Given the description of an element on the screen output the (x, y) to click on. 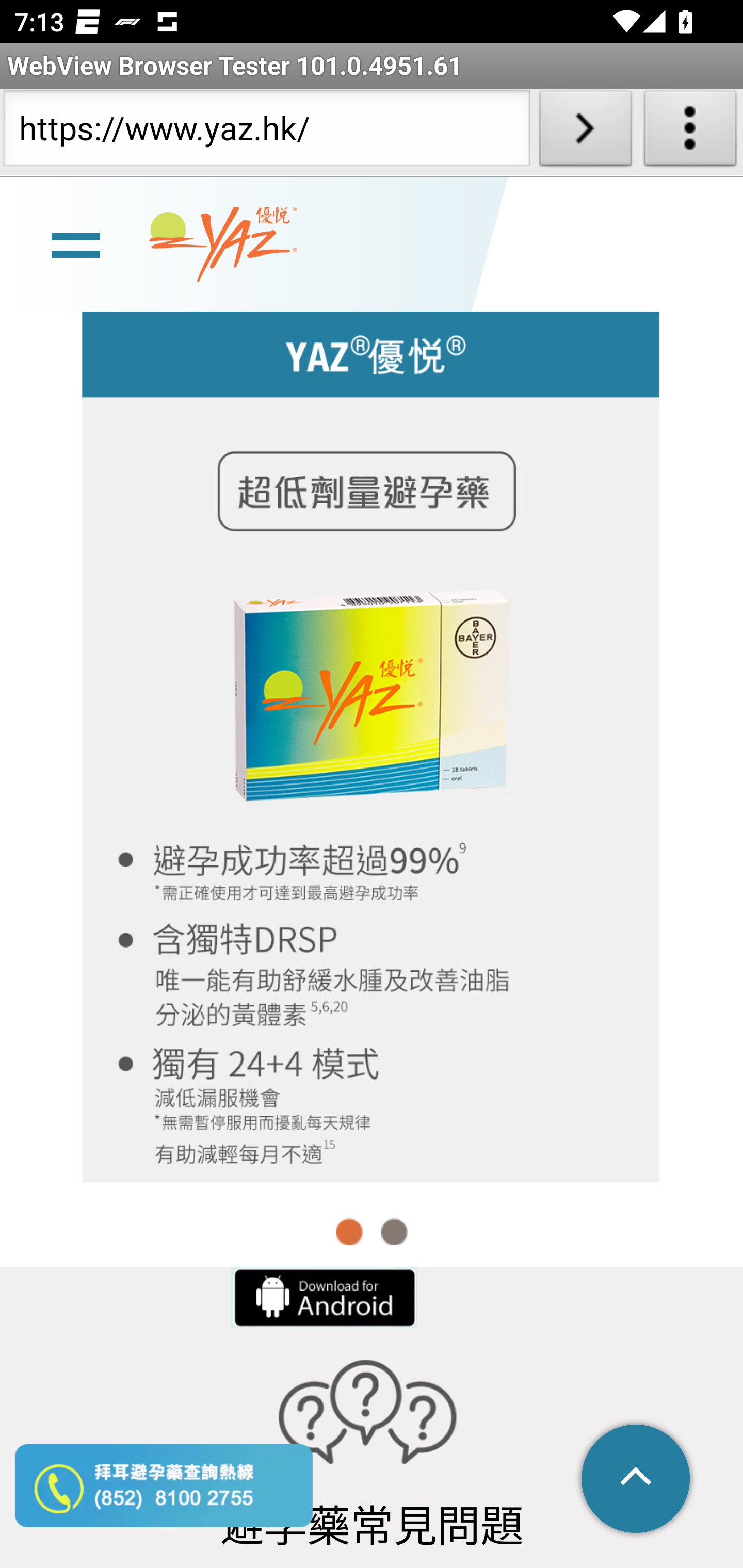
https://www.yaz.hk/ (266, 132)
Load URL (585, 132)
About WebView (690, 132)
www.yaz (222, 244)
line Toggle burger menu (75, 242)
slide 1 (371, 742)
1 of 2 (349, 1230)
2 of 2 (393, 1230)
details?id=com.bayer.ph (322, 1296)
 (636, 1480)
